Given the description of an element on the screen output the (x, y) to click on. 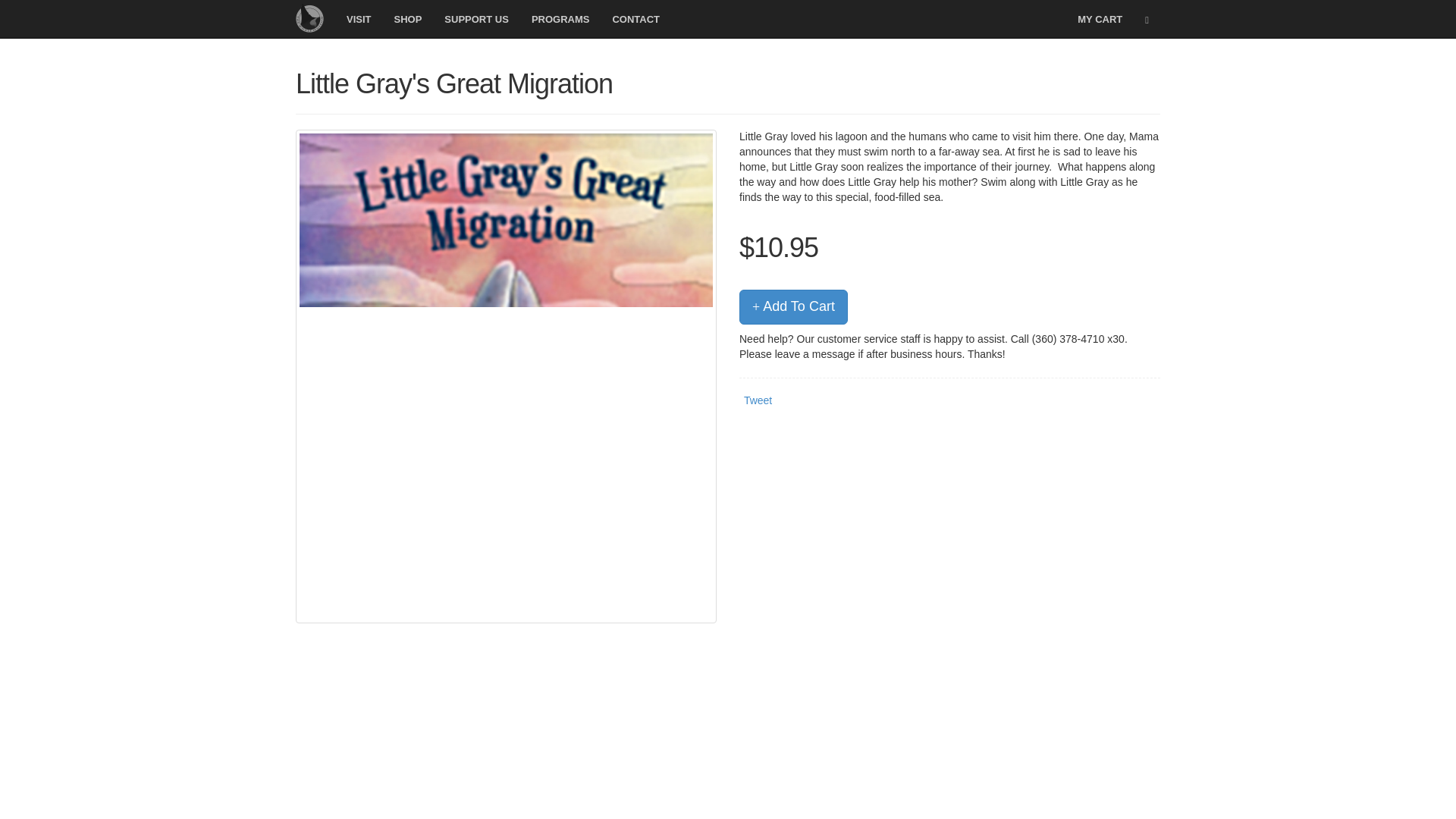
VISIT (358, 18)
PROGRAMS (560, 18)
SUPPORT US (475, 18)
SHOP (407, 18)
